Given the description of an element on the screen output the (x, y) to click on. 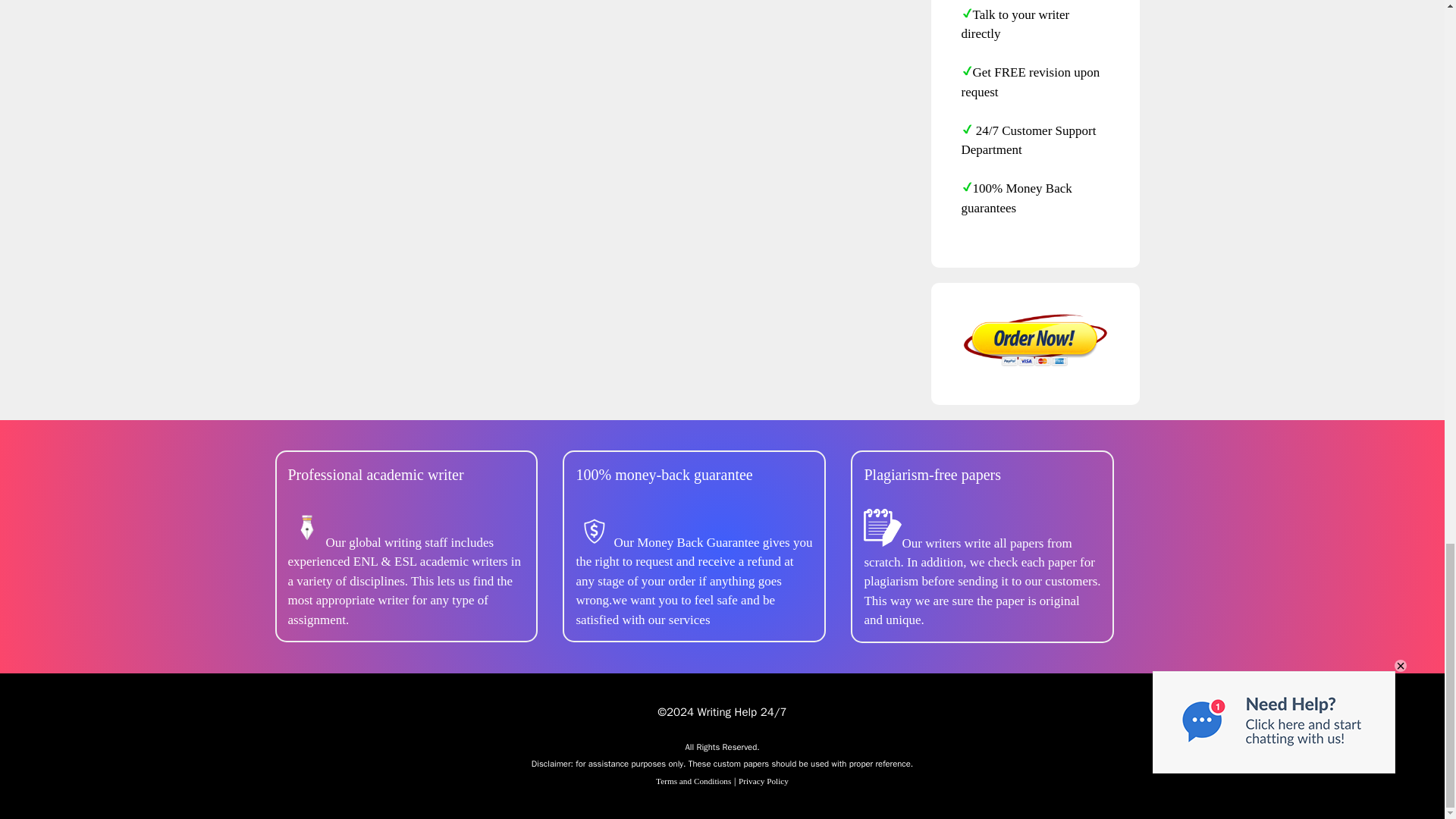
Terms and Conditions (693, 780)
Privacy Policy (763, 780)
